Given the description of an element on the screen output the (x, y) to click on. 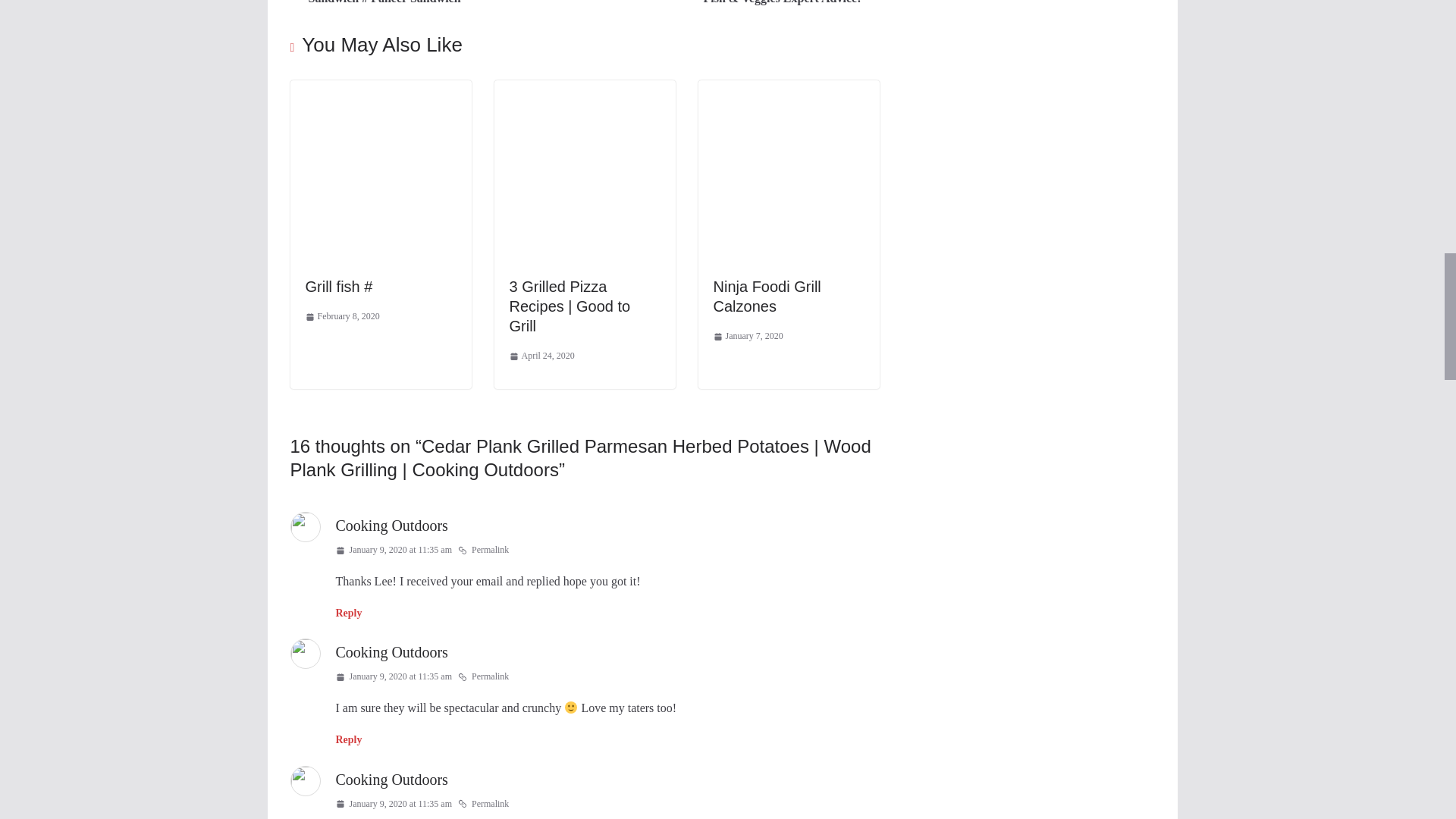
Reply (347, 613)
Permalink (483, 550)
1:56 am (542, 356)
Ninja Foodi Grill Calzones (767, 296)
April 24, 2020 (542, 356)
Ninja Foodi Grill Calzones (788, 90)
February 8, 2020 (341, 316)
Cooking Outdoors (390, 524)
January 7, 2020 (748, 336)
Ninja Foodi Grill Calzones (767, 296)
